Given the description of an element on the screen output the (x, y) to click on. 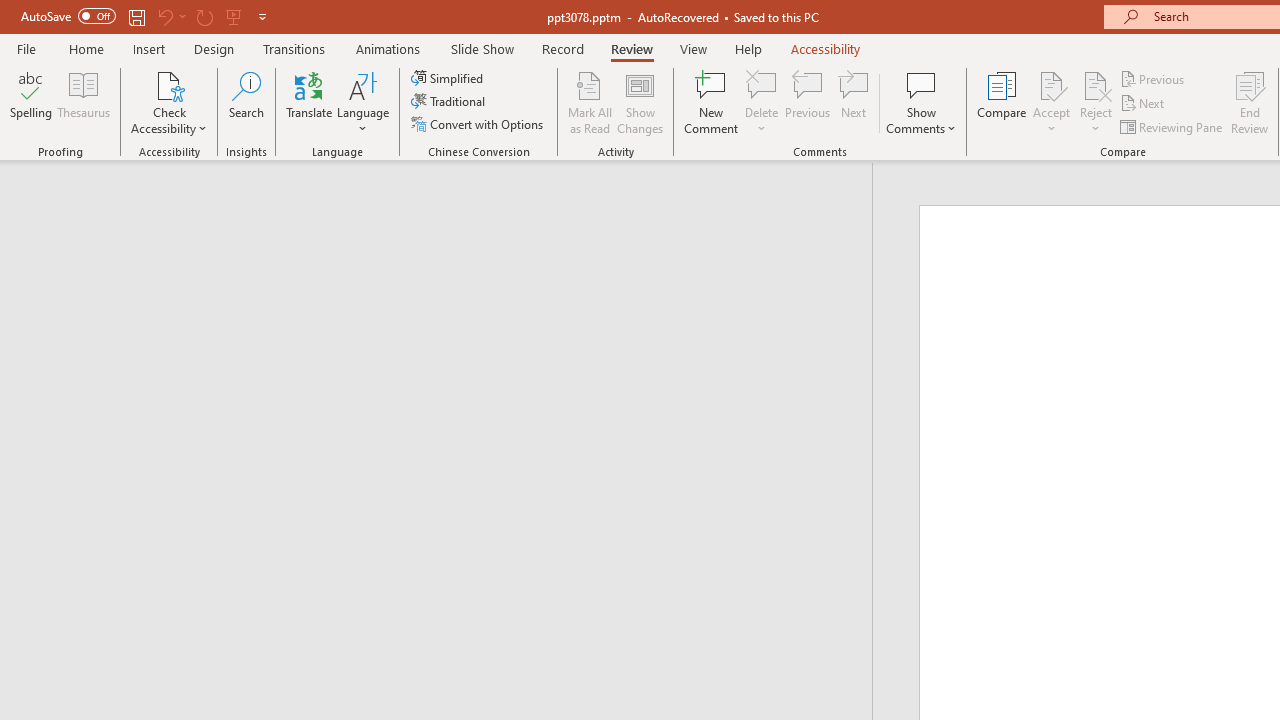
Outline (445, 202)
Reviewing Pane (1172, 126)
